Given the description of an element on the screen output the (x, y) to click on. 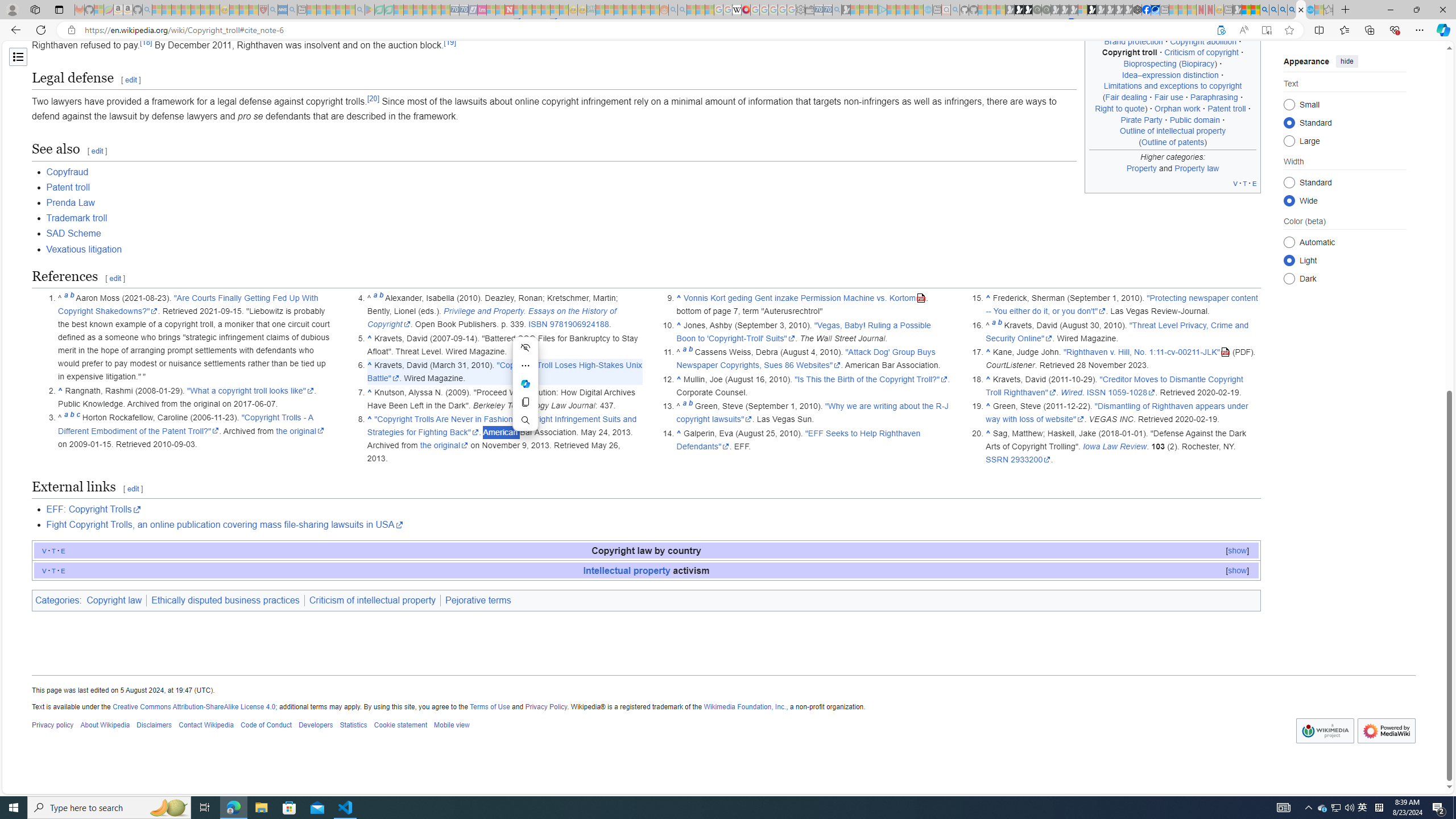
Developers (315, 725)
Code of Conduct (265, 725)
Pirate Party (1142, 119)
"Is This the Birth of the Copyright Troll?" (870, 379)
Disclaimers (153, 725)
Powered by MediaWiki (1386, 730)
Utah sues federal government - Search - Sleeping (681, 9)
Biopiracy (1197, 63)
Expert Portfolios - Sleeping (627, 9)
Bioprospecting (1149, 63)
Privacy Policy (546, 706)
